Given the description of an element on the screen output the (x, y) to click on. 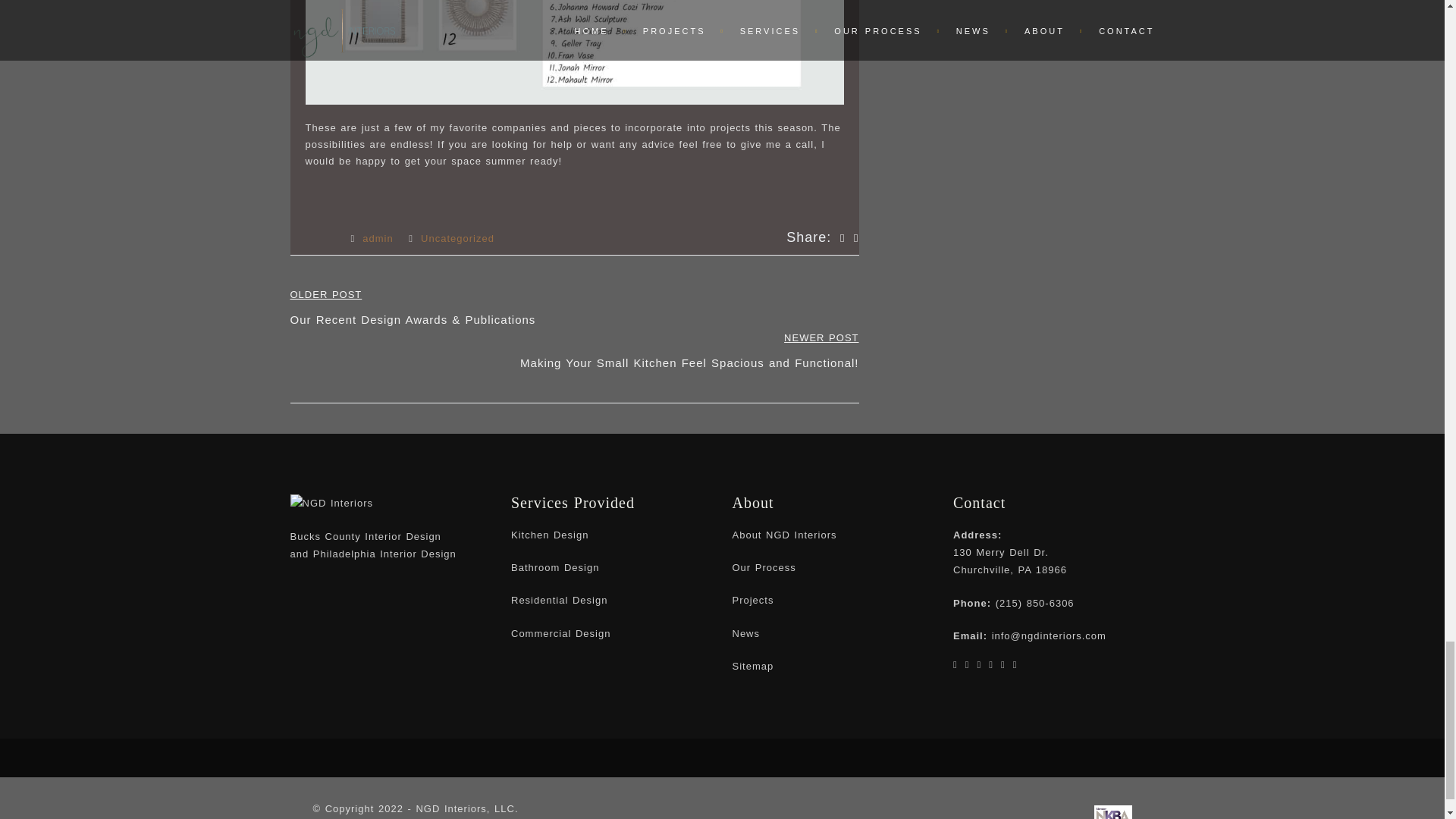
Posts by admin (377, 238)
